Given the description of an element on the screen output the (x, y) to click on. 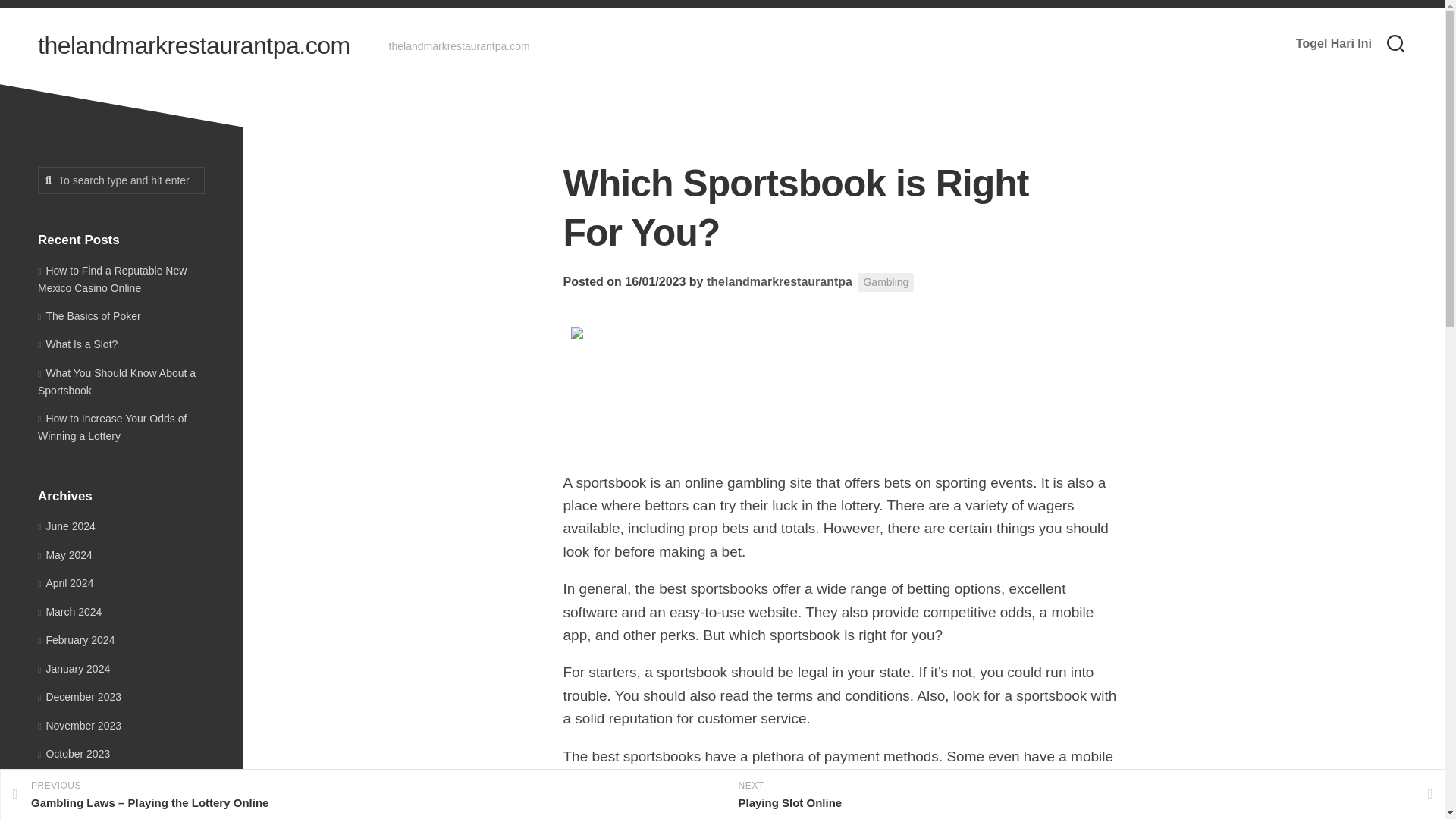
To search type and hit enter (121, 180)
May 2024 (65, 554)
How to Find a Reputable New Mexico Casino Online (111, 278)
thelandmarkrestaurantpa (778, 281)
April 2024 (65, 582)
The Basics of Poker (89, 315)
What Is a Slot? (77, 344)
thelandmarkrestaurantpa.com (193, 44)
Posts by thelandmarkrestaurantpa (778, 281)
January 2024 (73, 668)
